Given the description of an element on the screen output the (x, y) to click on. 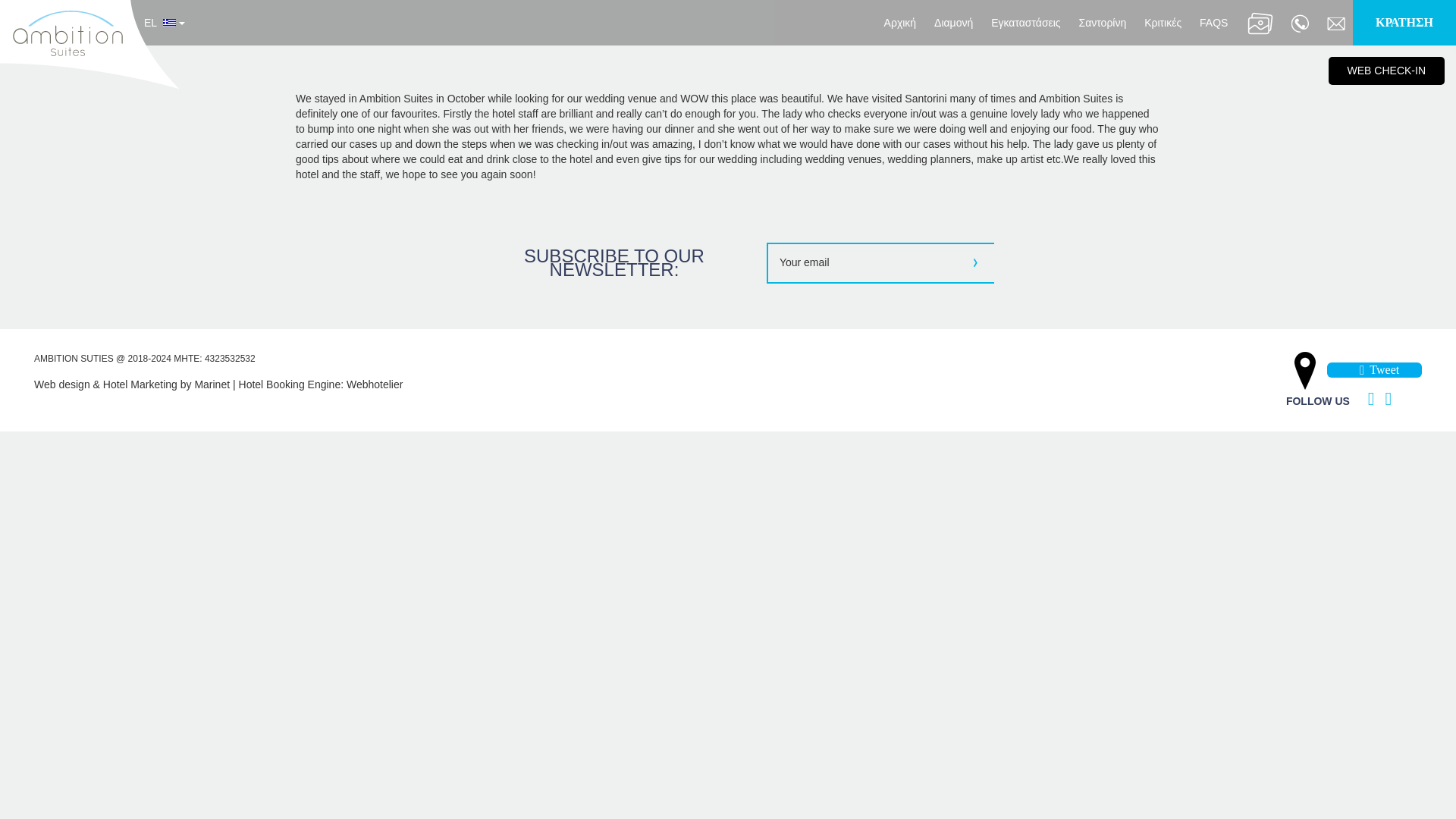
WEB CHECK-IN (1385, 70)
FAQS (1213, 22)
Facebook (1366, 398)
GALLERY (1259, 22)
Instagram (1384, 398)
CONTACT (1335, 22)
